Given the description of an element on the screen output the (x, y) to click on. 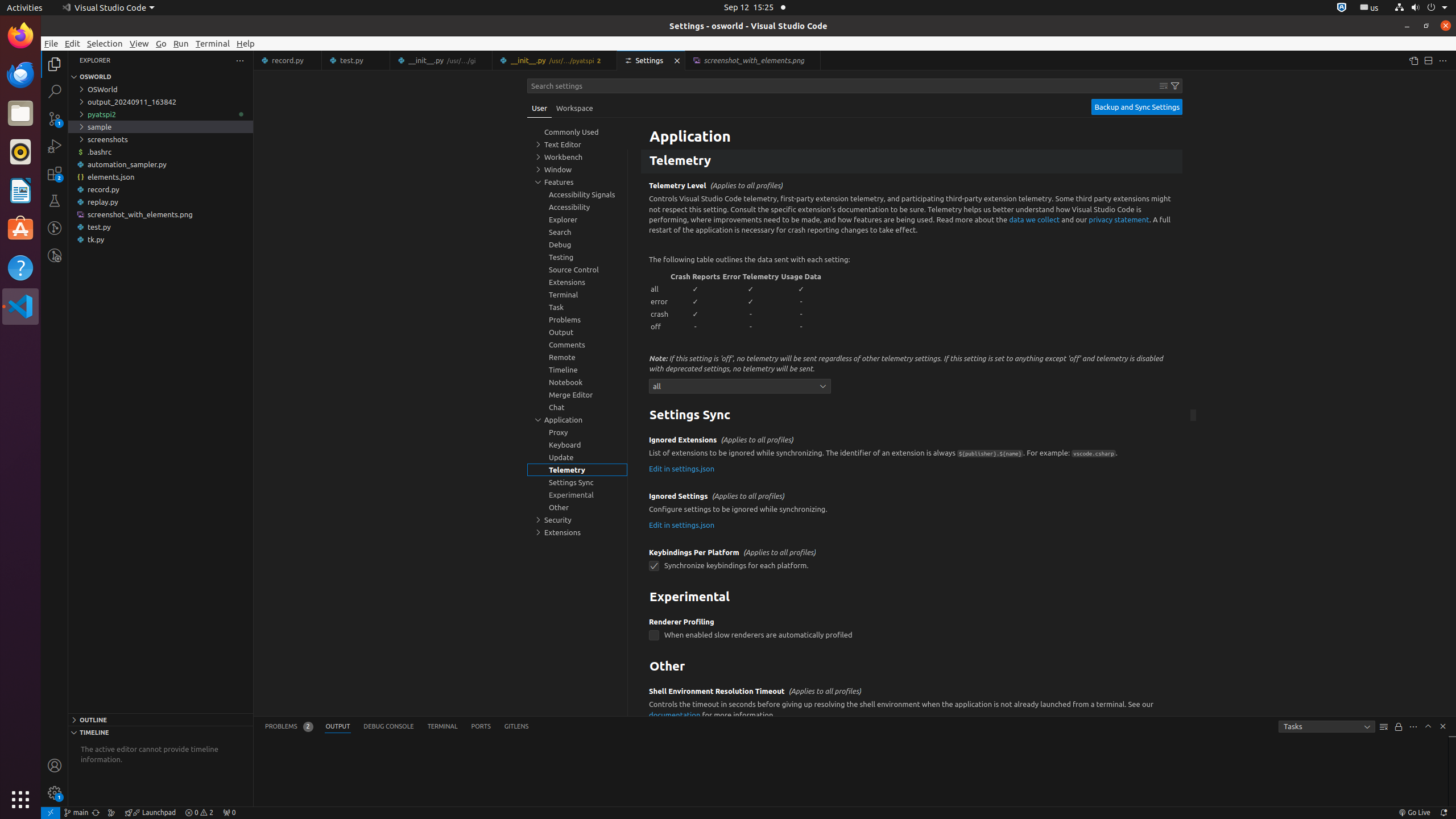
Chat, group Element type: tree-item (577, 406)
Task, group Element type: tree-item (577, 306)
Outline Section Element type: push-button (160, 719)
Clear Output Element type: push-button (1383, 726)
crash Element type: table-cell (659, 314)
